Given the description of an element on the screen output the (x, y) to click on. 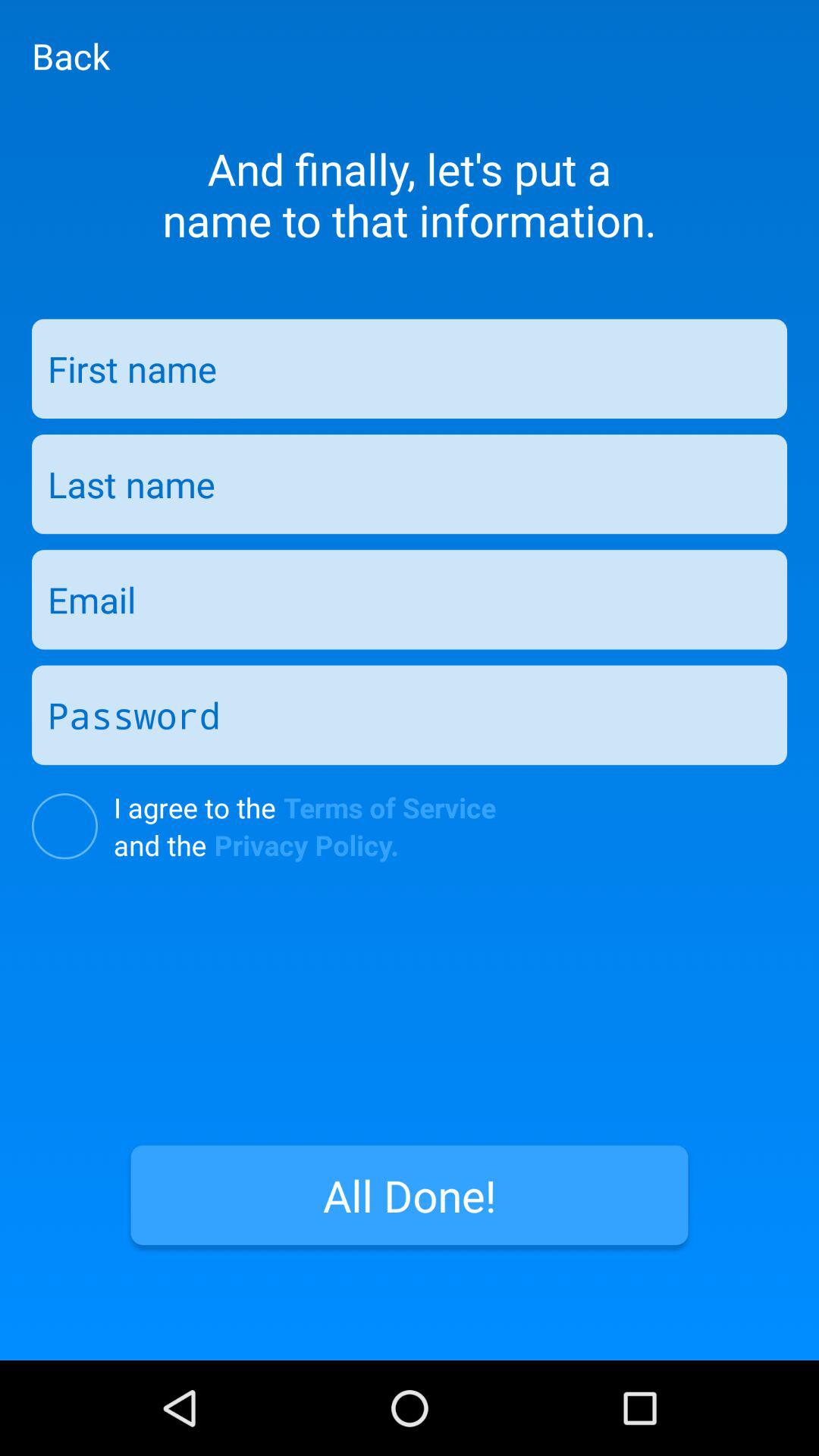
enter name (409, 368)
